Given the description of an element on the screen output the (x, y) to click on. 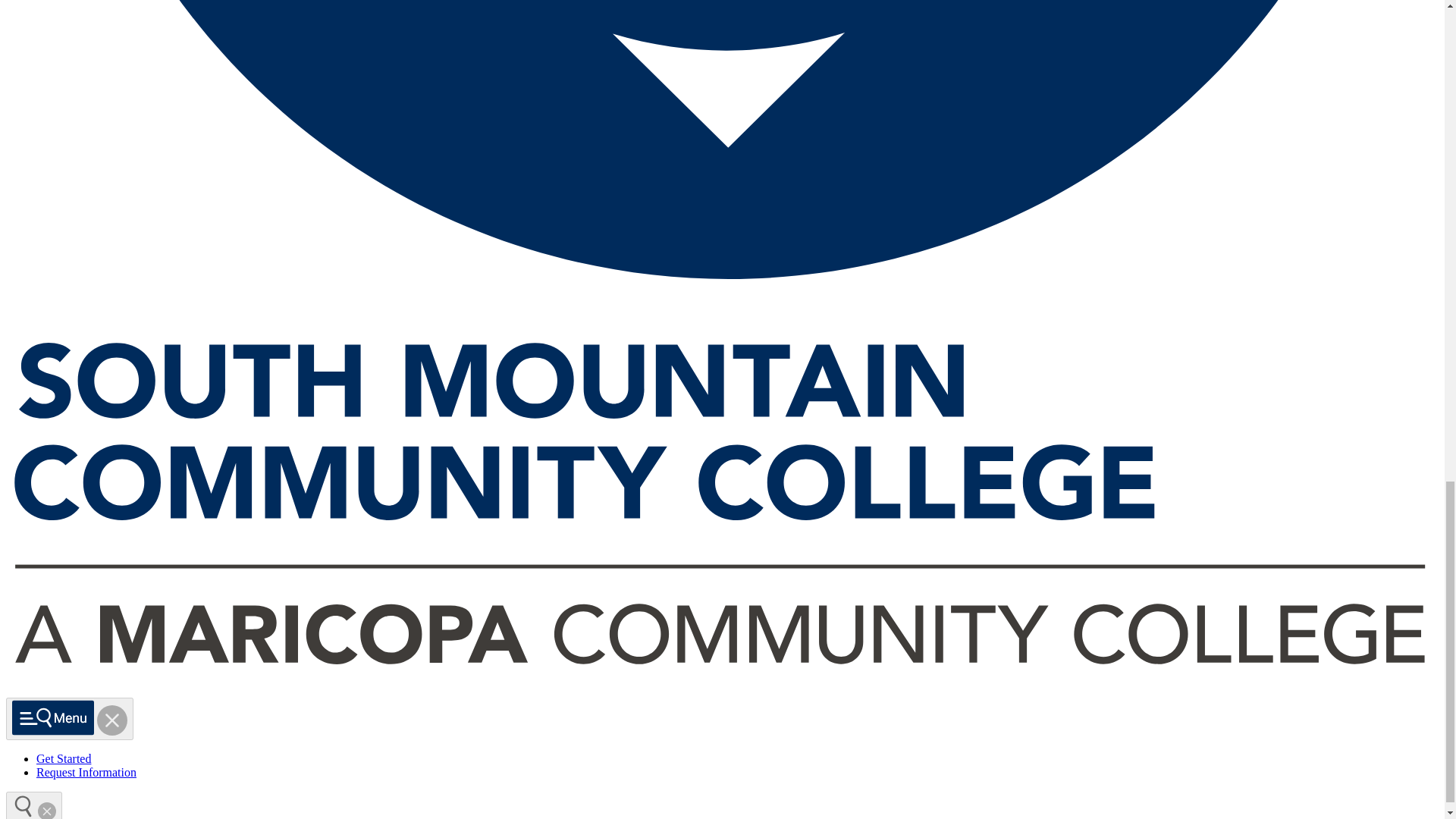
Get Started (63, 758)
Request Information (86, 771)
